Given the description of an element on the screen output the (x, y) to click on. 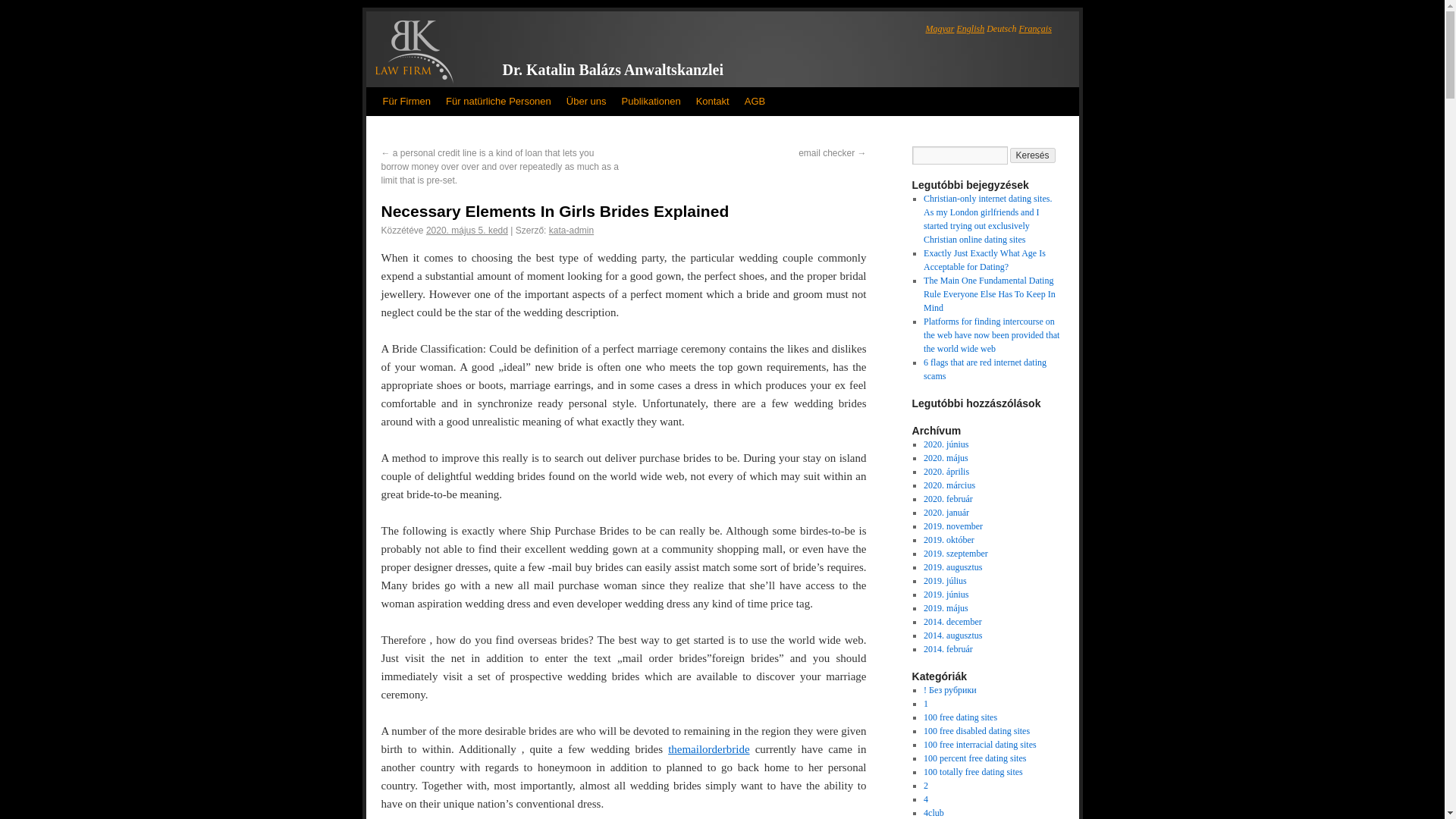
00:00 (467, 230)
Publikationen (651, 101)
Deutsch (1001, 28)
themailorderbride (708, 748)
Magyar (938, 28)
Kontakt (712, 101)
AGB (754, 101)
English (970, 28)
kata-admin (571, 230)
